Given the description of an element on the screen output the (x, y) to click on. 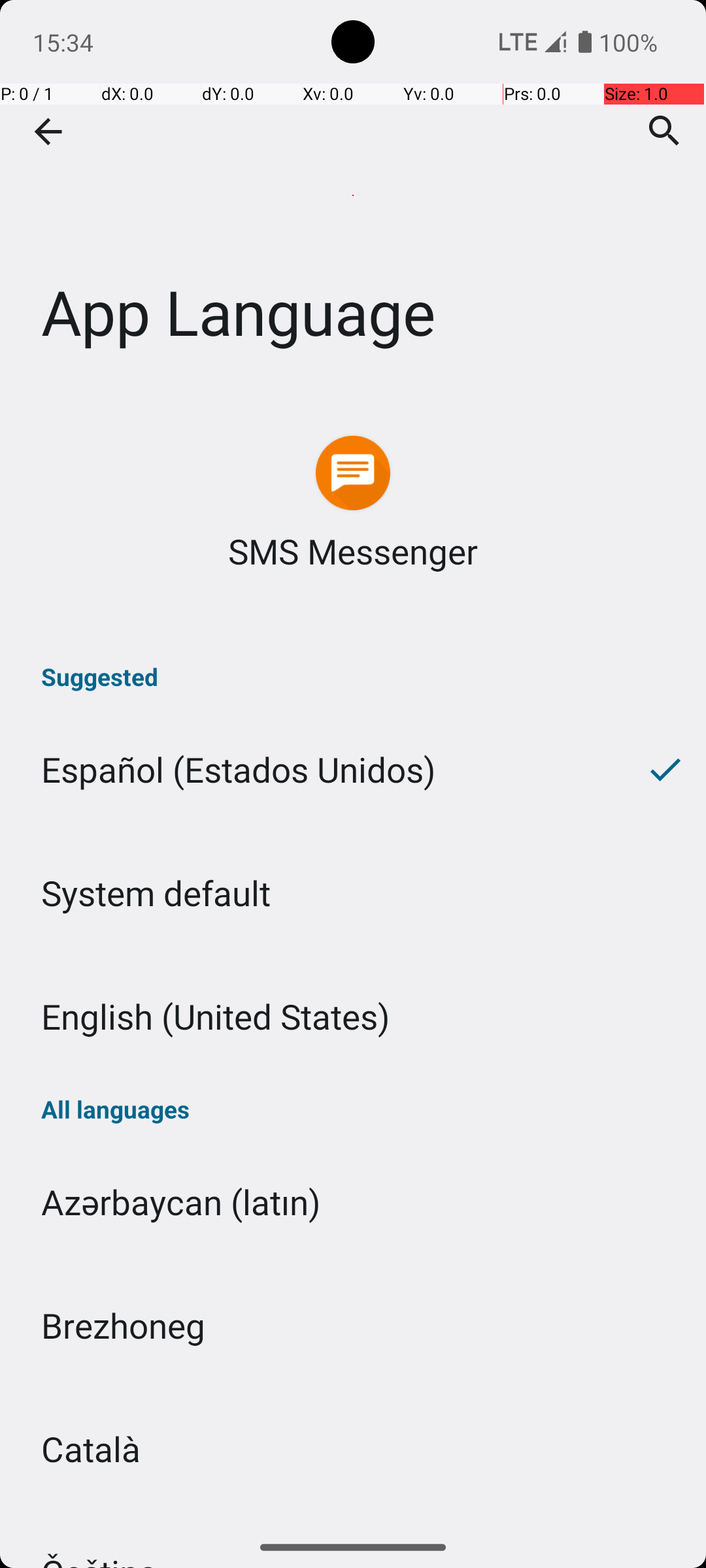
App Language Element type: android.widget.FrameLayout (353, 195)
Suggested Element type: android.widget.TextView (353, 676)
English (United States) Element type: android.widget.TextView (353, 1016)
All languages Element type: android.widget.TextView (353, 1109)
Azərbaycan (latın) Element type: android.widget.TextView (353, 1201)
Brezhoneg Element type: android.widget.TextView (353, 1325)
Català Element type: android.widget.TextView (353, 1448)
Čeština Element type: android.widget.TextView (353, 1518)
Español (Estados Unidos) Element type: android.widget.TextView (312, 769)
